Given the description of an element on the screen output the (x, y) to click on. 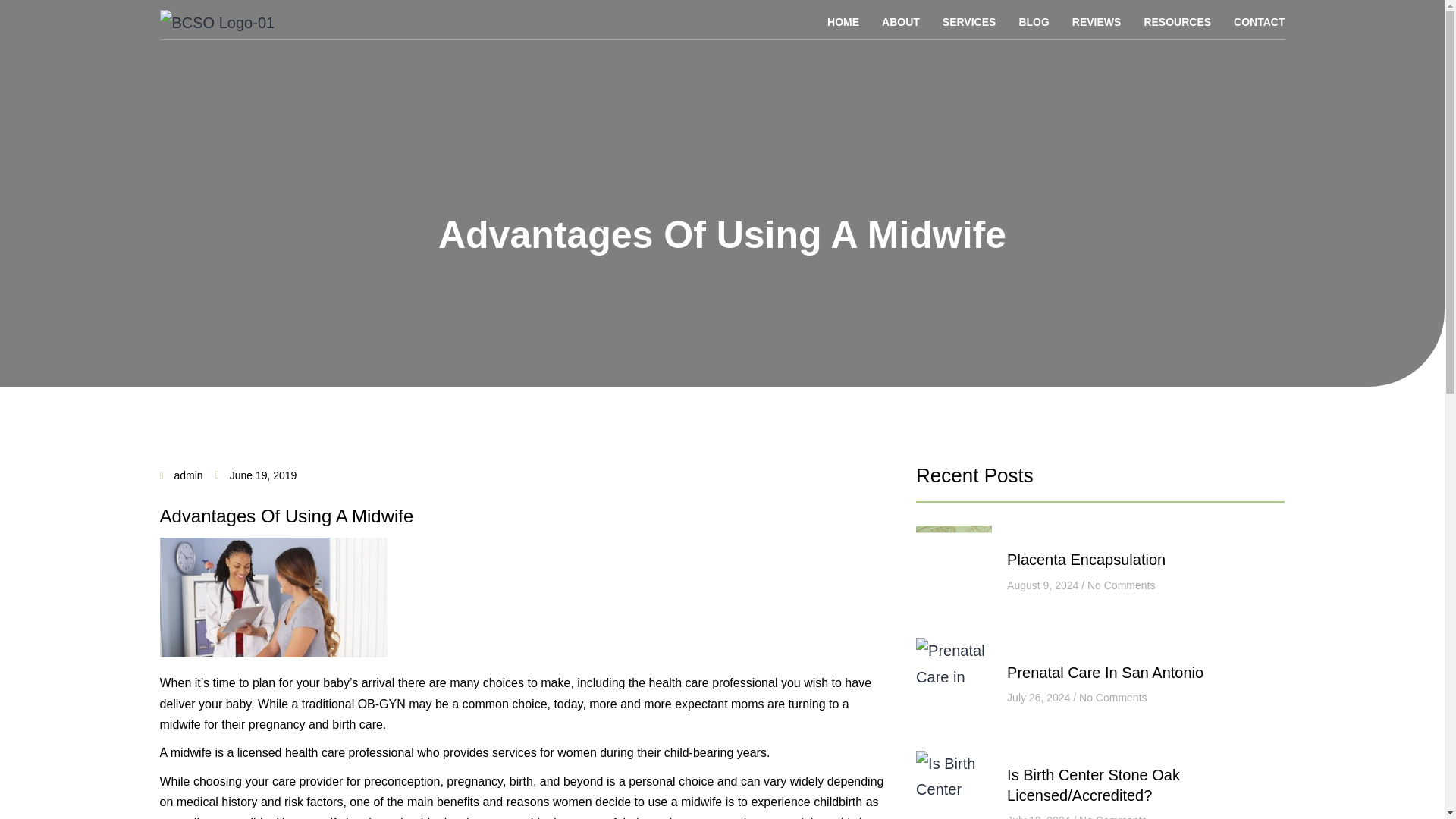
Placenta Encapsulation (1086, 559)
RESOURCES (1177, 21)
BCSO Logo-01 (216, 22)
BLOG (1033, 21)
ABOUT (900, 21)
REVIEWS (1096, 21)
HOME (842, 21)
SERVICES (969, 21)
CONTACT (1253, 21)
Prenatal Care In San Antonio (1105, 672)
